Given the description of an element on the screen output the (x, y) to click on. 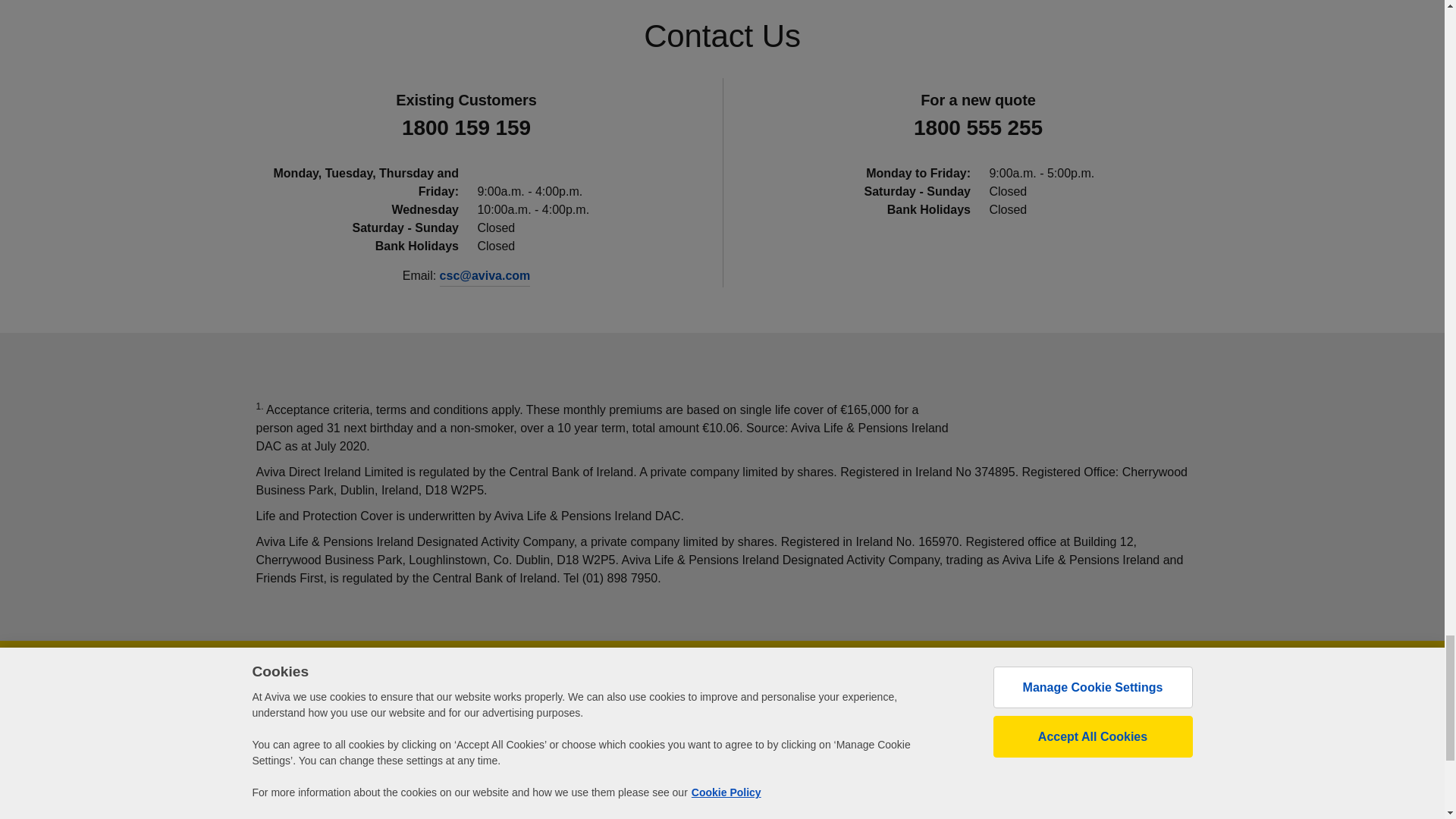
Aviva's Ireland Facebook page (1010, 761)
Aviva's Ireland YouTube page (1099, 761)
Aviva's Ireland Twitter page (1055, 761)
Aviva's Ireland Instagram page (1143, 761)
